Given the description of an element on the screen output the (x, y) to click on. 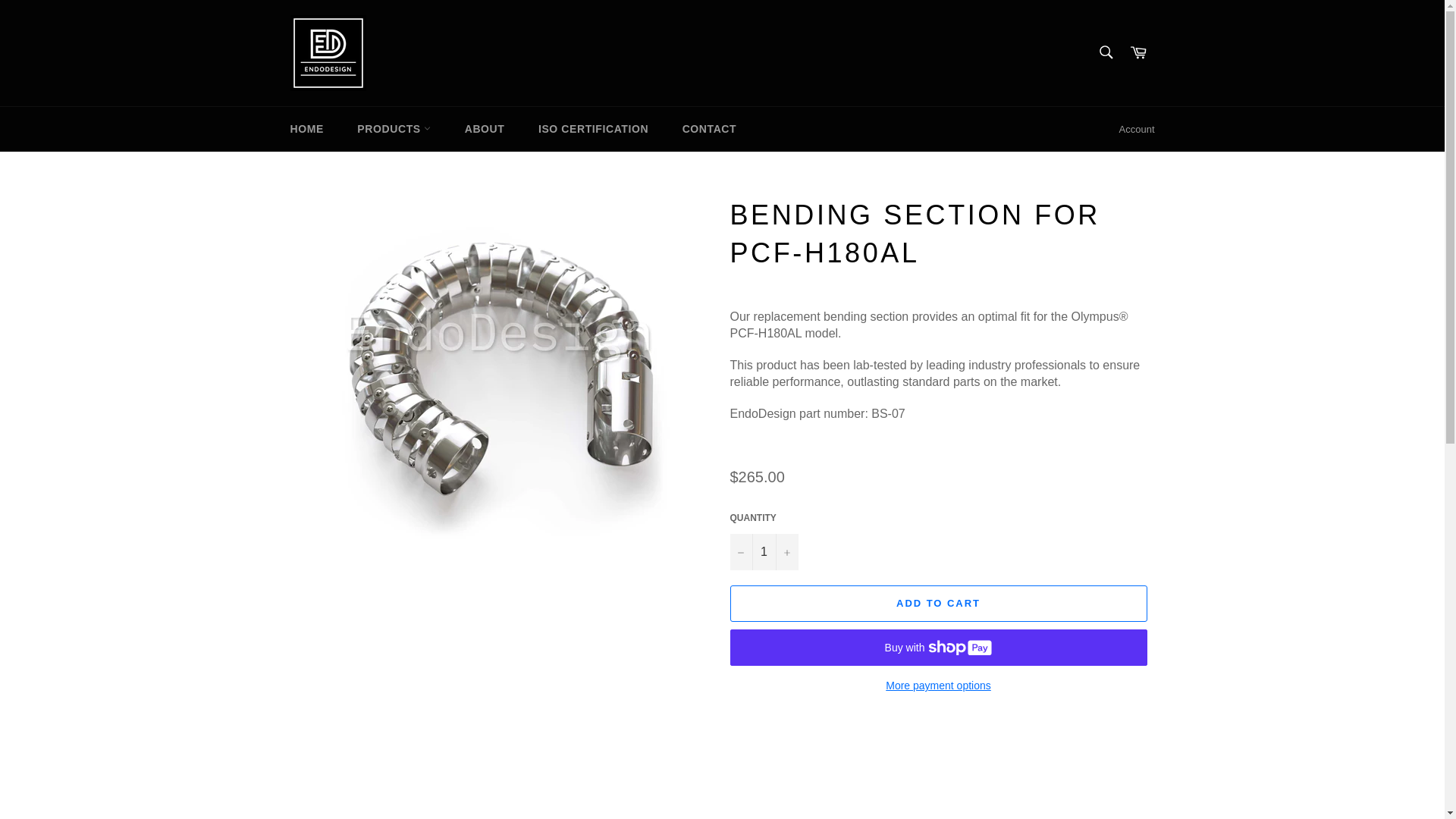
1 (763, 551)
PRODUCTS (393, 129)
ABOUT (484, 129)
Cart (1138, 53)
ISO CERTIFICATION (592, 129)
Search (1104, 51)
CONTACT (709, 129)
HOME (306, 129)
Account (1136, 129)
